Given the description of an element on the screen output the (x, y) to click on. 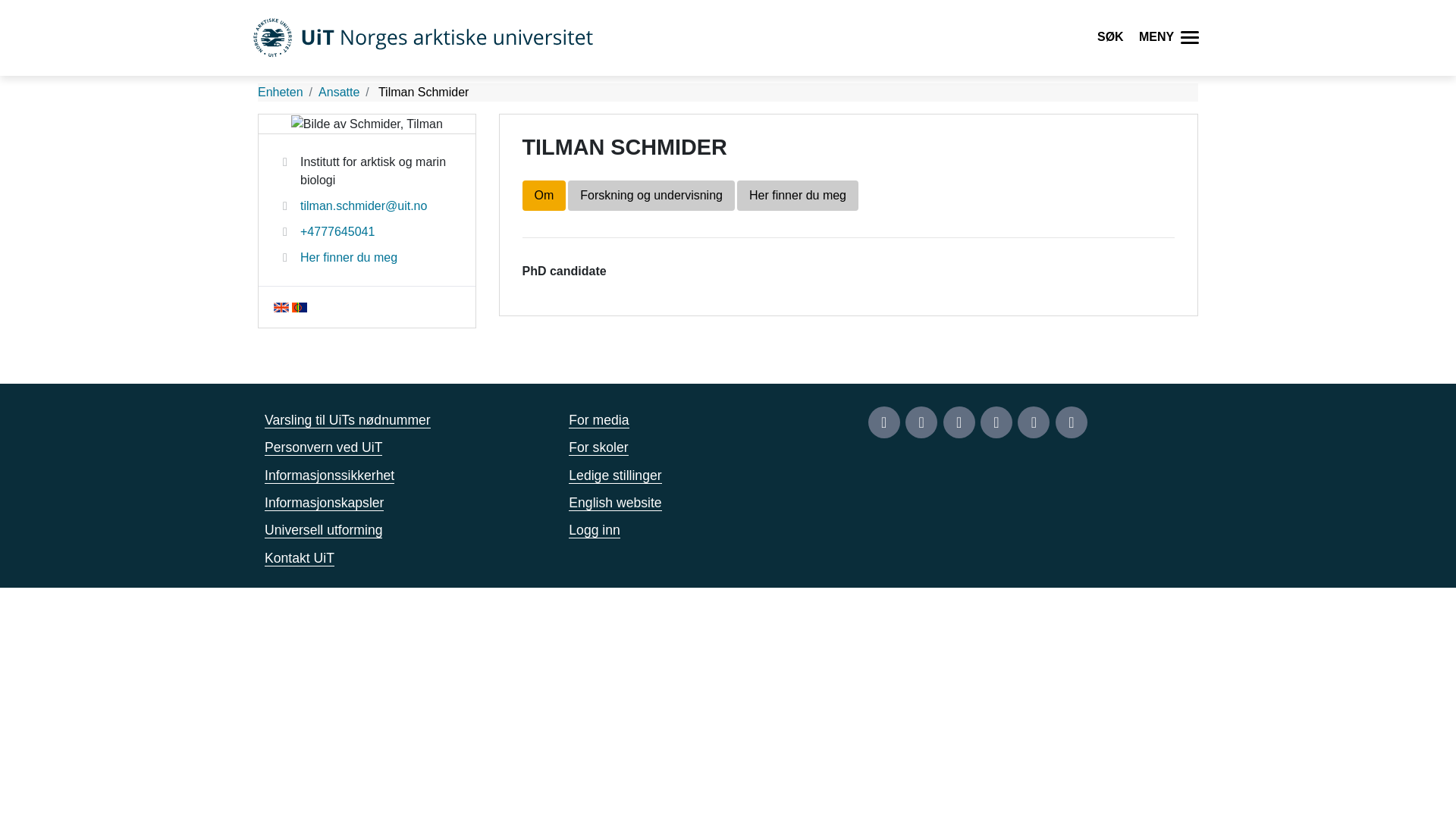
UiT Facebook (883, 422)
UiT LinkedIn (1033, 422)
Til engelsk side (280, 306)
RSS og nyhetsbrev (1071, 422)
UiT Norges arktiske universitet (422, 37)
Meny (1190, 38)
UiT Instagram (921, 422)
UiT Twitter (959, 422)
UiT Youtube (995, 422)
Til samisk side (299, 306)
